Given the description of an element on the screen output the (x, y) to click on. 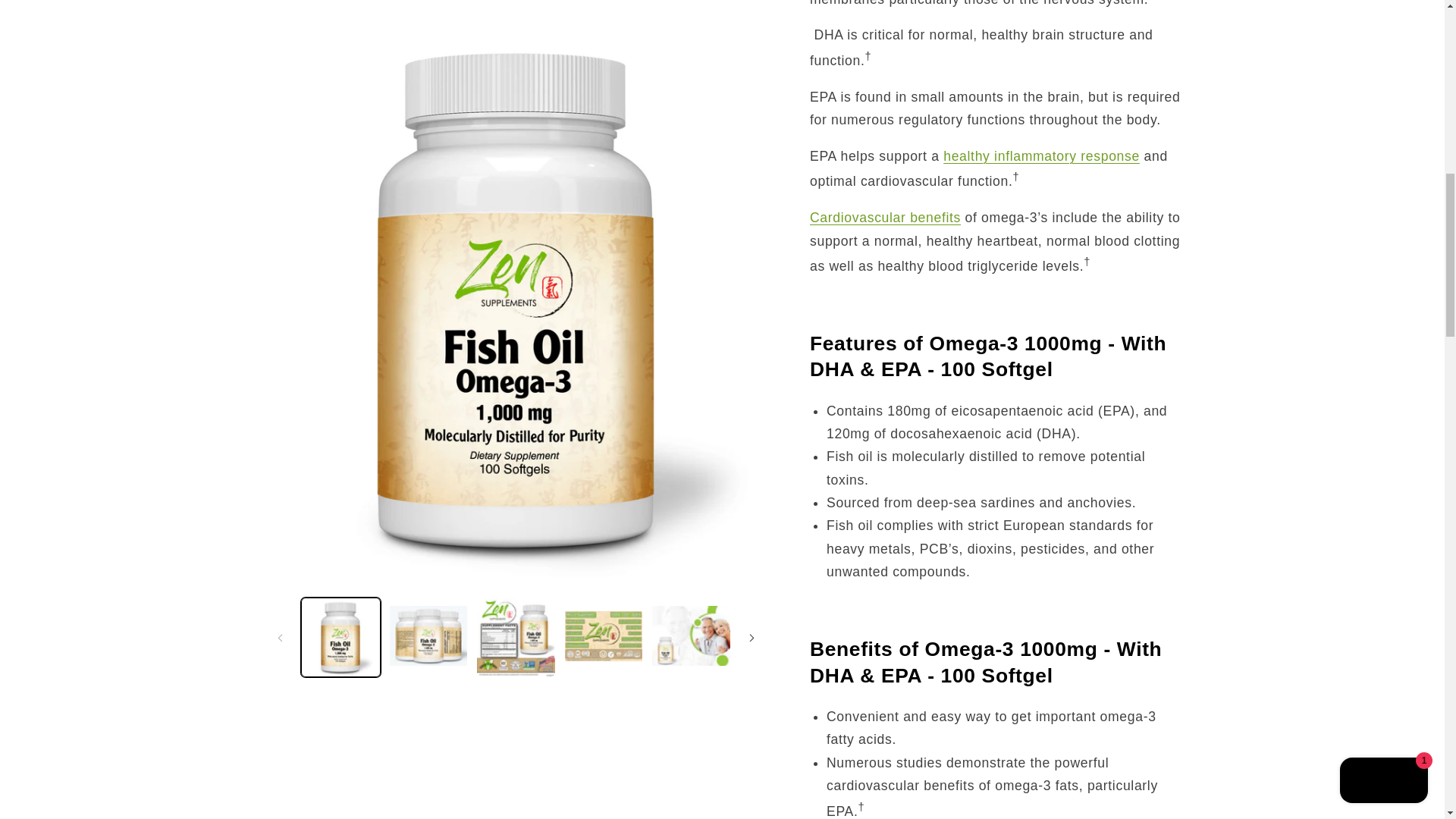
cardiovascular health (884, 217)
inflammation and chronic inflammation. (1041, 155)
